Given the description of an element on the screen output the (x, y) to click on. 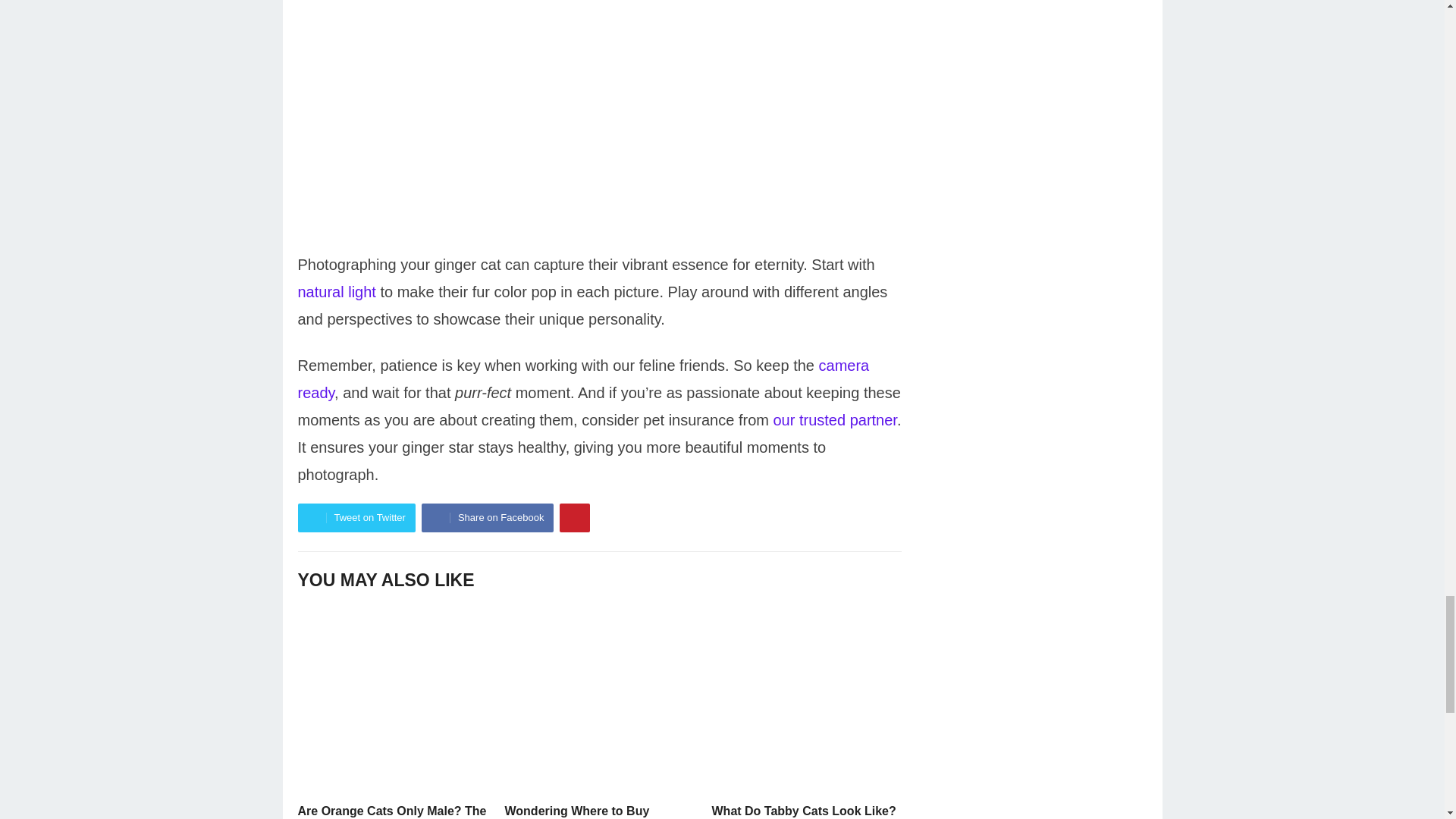
Tweet on Twitter (355, 517)
camera ready (583, 379)
our trusted partner (834, 419)
natural light (336, 291)
Share on Facebook (487, 517)
